Given the description of an element on the screen output the (x, y) to click on. 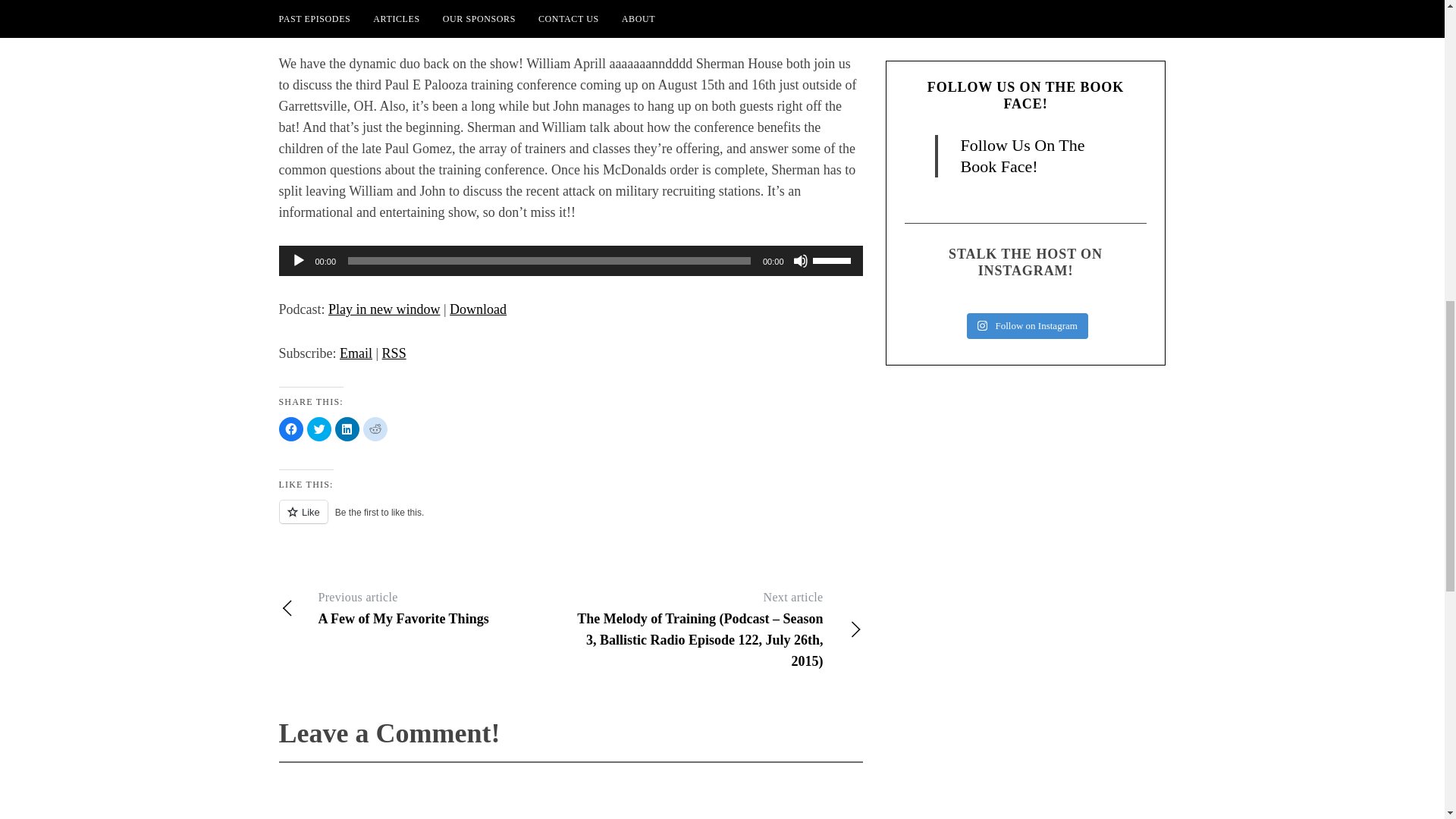
Play (298, 260)
Mute (800, 260)
Subscribe via RSS (393, 353)
Subscribe by Email (355, 353)
Click to share on Reddit (424, 608)
Like or Reblog (374, 428)
Download (571, 520)
Click to share on Twitter (477, 309)
Click to share on Facebook (317, 428)
